Given the description of an element on the screen output the (x, y) to click on. 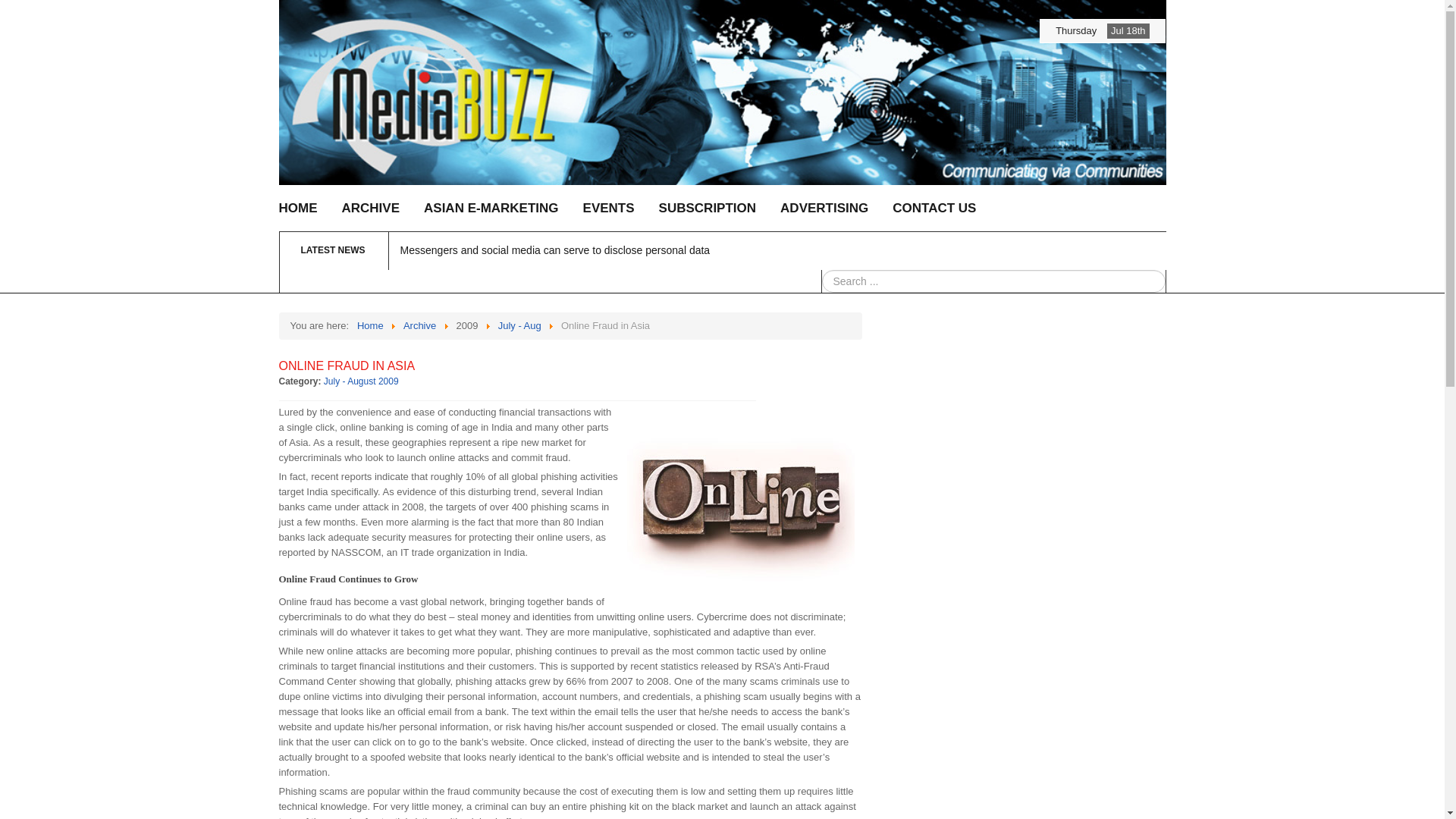
ARCHIVE (369, 207)
Search ... (994, 281)
